Given the description of an element on the screen output the (x, y) to click on. 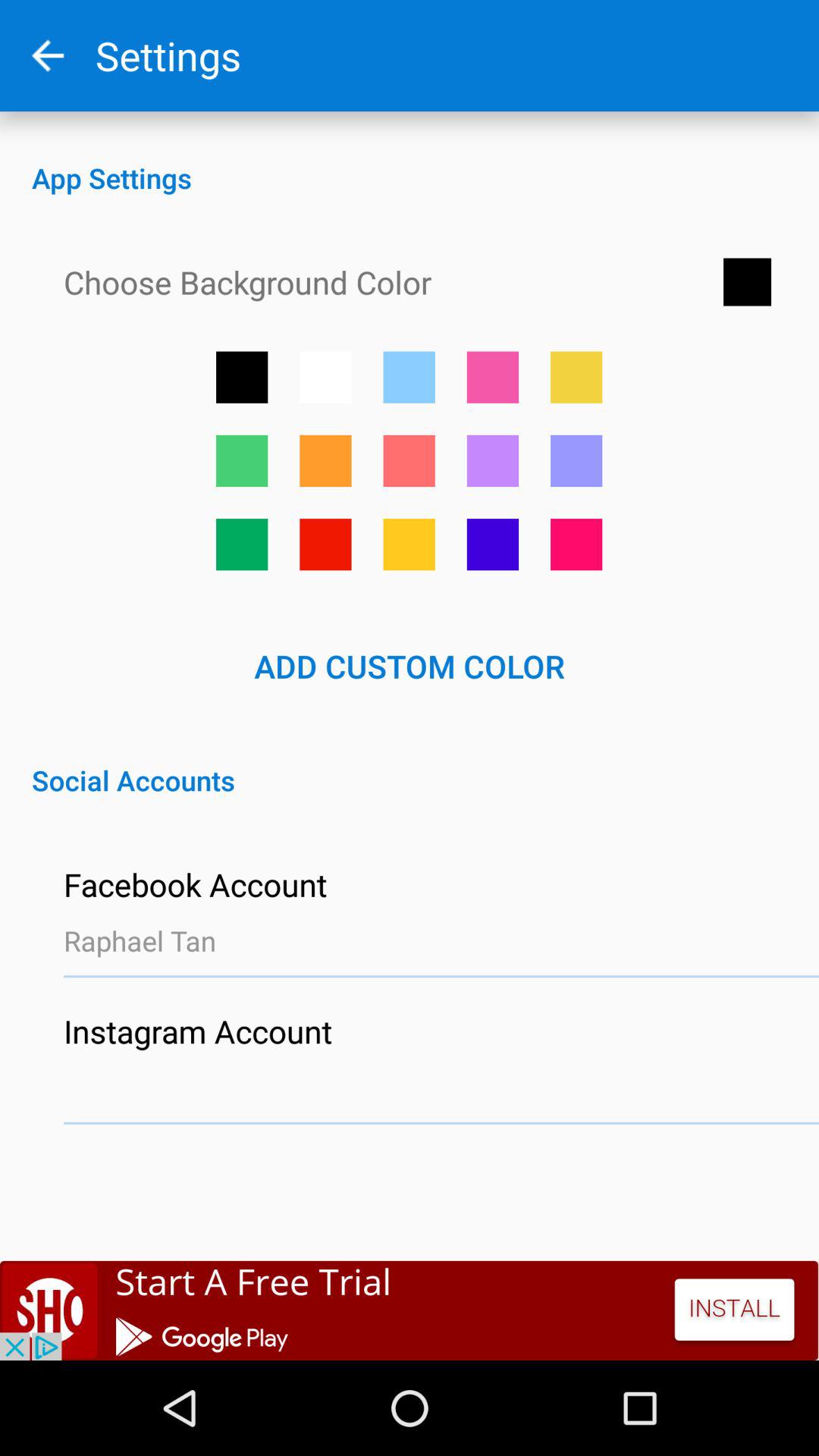
select dark blue (492, 544)
